Given the description of an element on the screen output the (x, y) to click on. 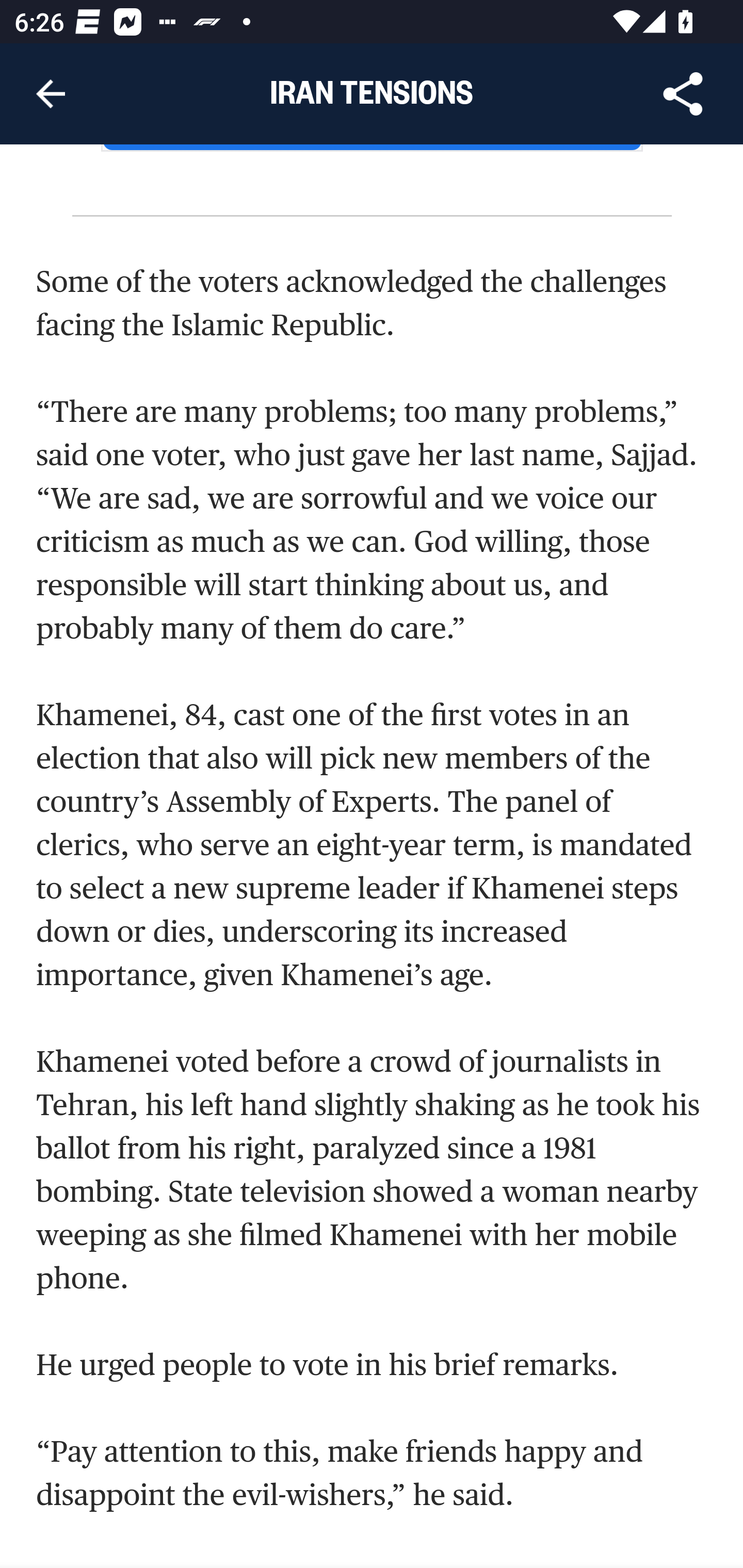
Navigate up (50, 93)
Share Article, button (683, 94)
